Given the description of an element on the screen output the (x, y) to click on. 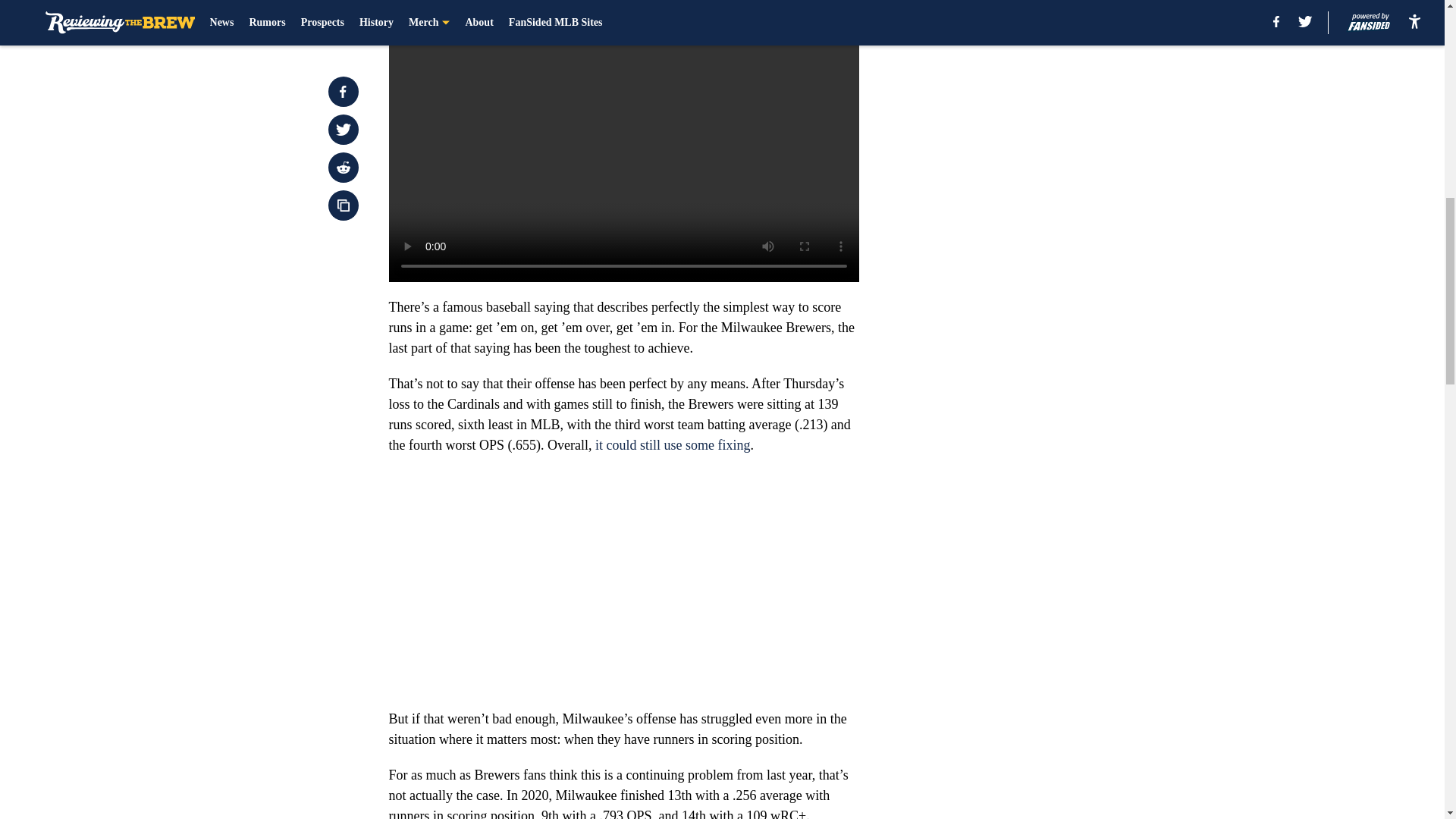
it could still use some fixing (670, 444)
3rd party ad content (1047, 332)
3rd party ad content (1047, 113)
